Given the description of an element on the screen output the (x, y) to click on. 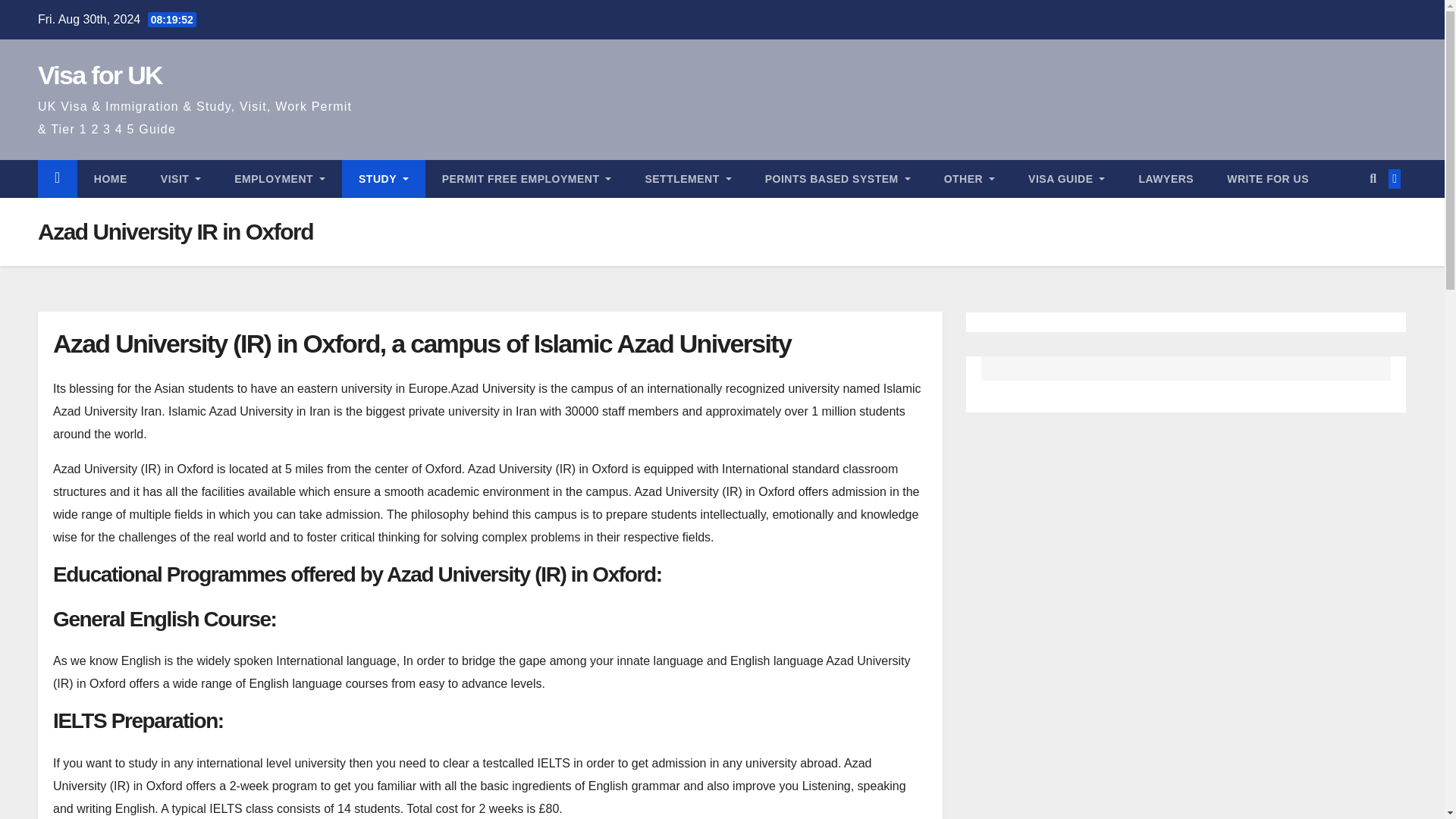
Visa for UK (99, 74)
EMPLOYMENT (279, 178)
Visit (180, 178)
Home (110, 178)
VISIT (180, 178)
HOME (110, 178)
